Given the description of an element on the screen output the (x, y) to click on. 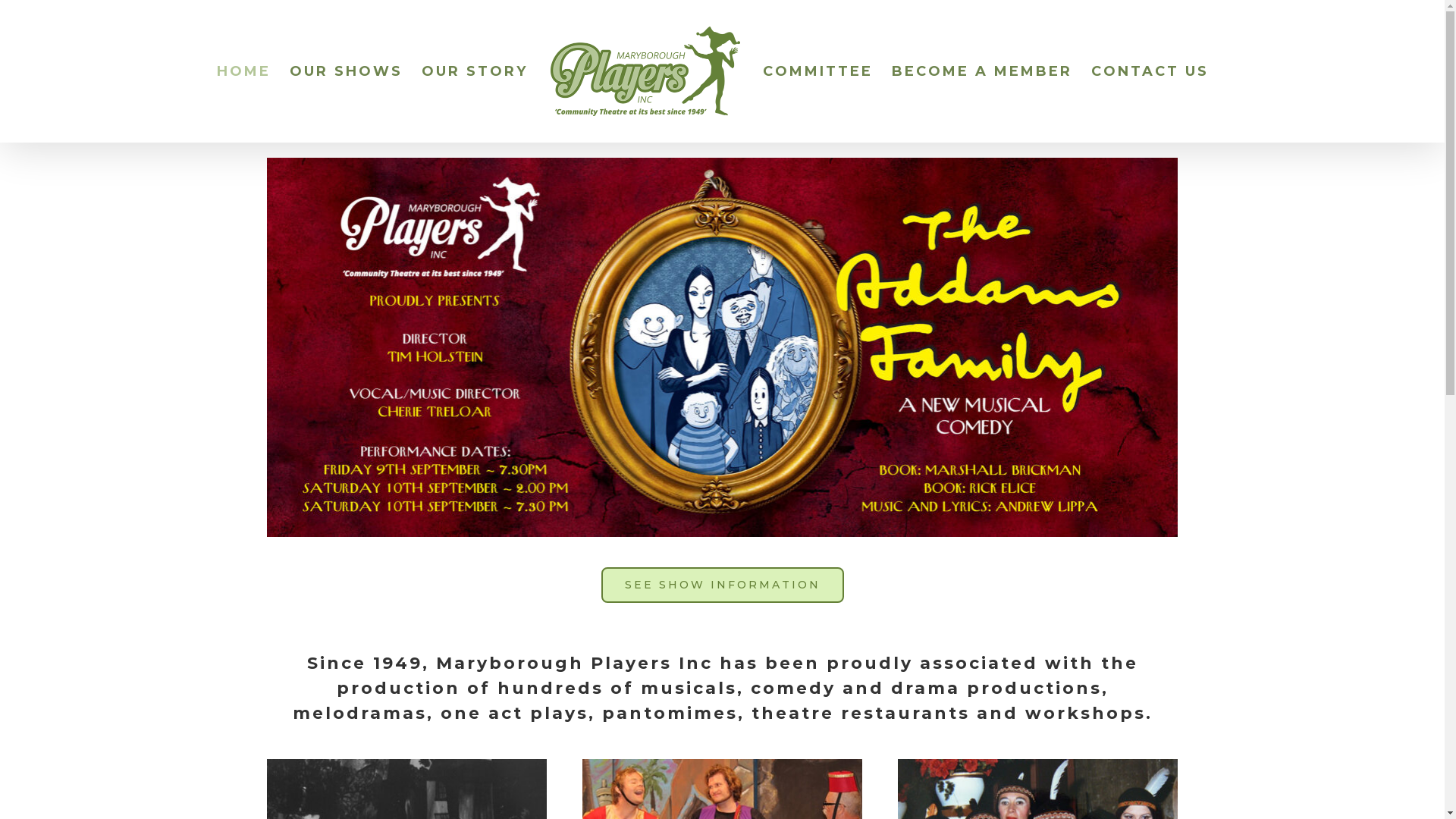
OUR SHOWS Element type: text (345, 71)
COMMITTEE Element type: text (817, 71)
OUR STORY Element type: text (474, 71)
HOME Element type: text (243, 71)
BECOME A MEMBER Element type: text (981, 71)
CONTACT US Element type: text (1149, 71)
SEE SHOW INFORMATION Element type: text (721, 584)
